Given the description of an element on the screen output the (x, y) to click on. 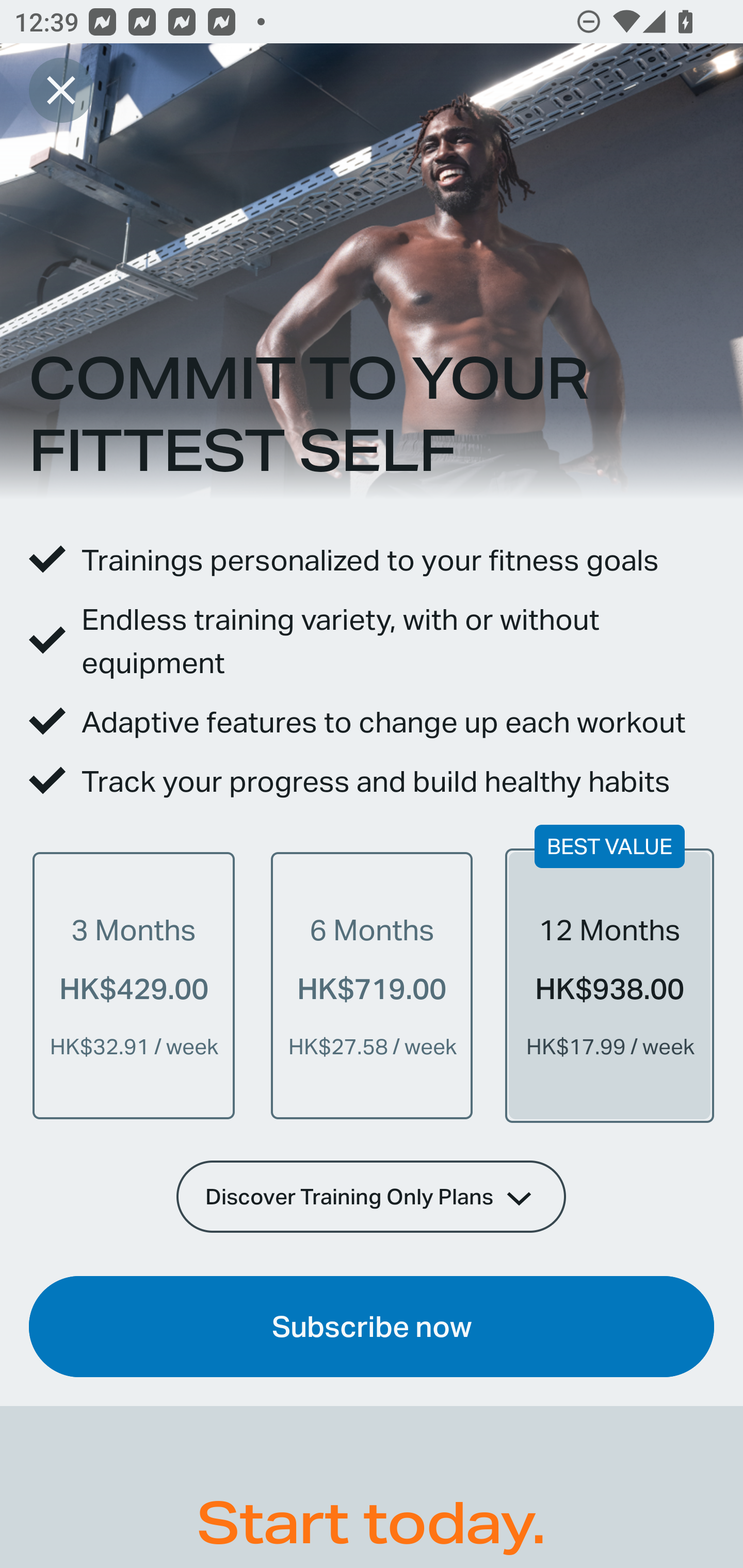
Close (60, 90)
3 Months HK$429.00 HK$32.91 / week (133, 985)
6 Months HK$719.00 HK$27.58 / week (371, 985)
12 Months HK$938.00 HK$17.99 / week (609, 985)
Discover Training Only Plans (371, 1196)
Subscribe now (371, 1326)
